Given the description of an element on the screen output the (x, y) to click on. 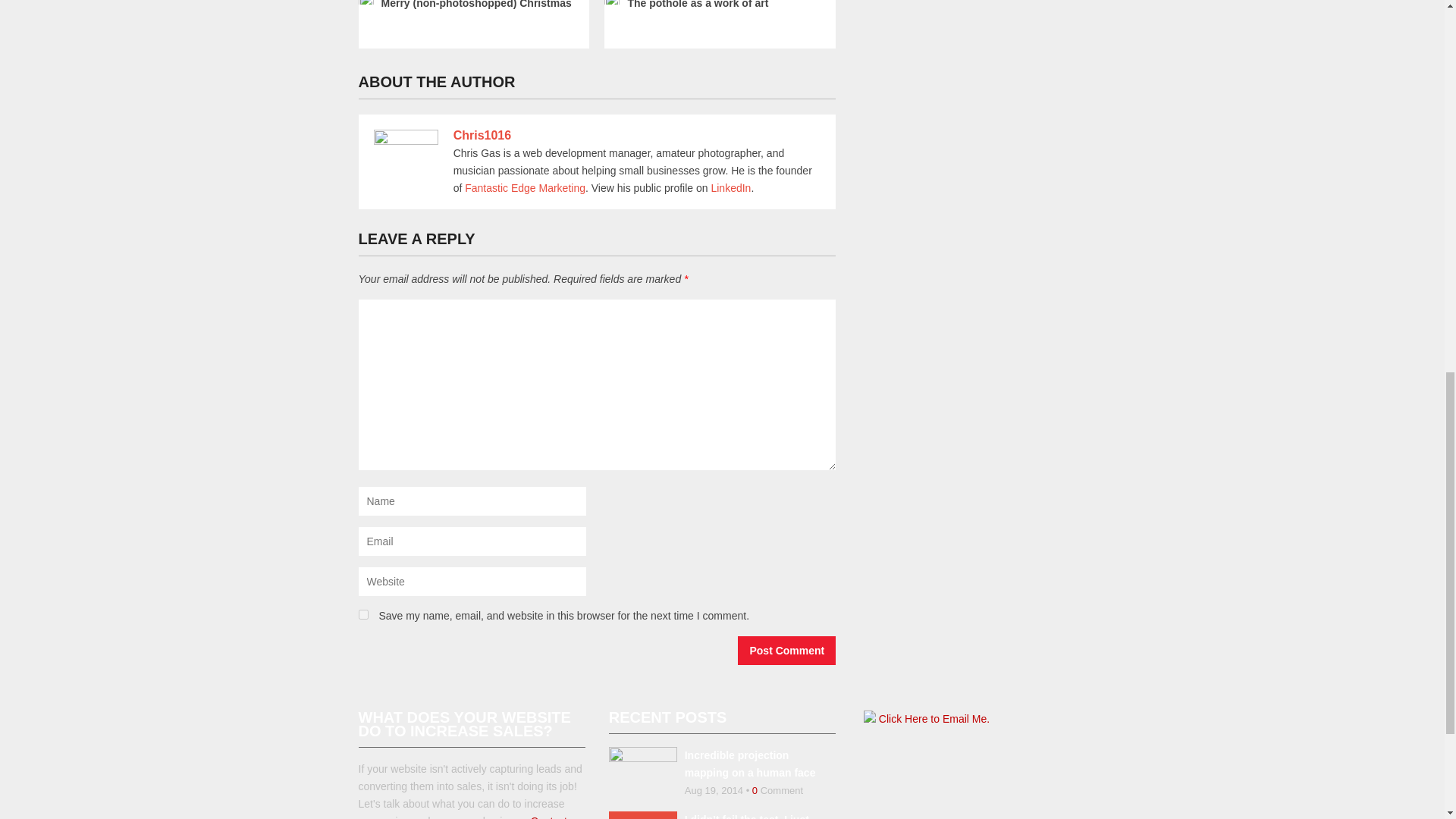
The pothole as a work of art (717, 6)
The pothole as a work of art (717, 6)
Post Comment (786, 650)
Chris1016 (482, 134)
yes (363, 614)
Post Comment (786, 650)
LinkedIn (730, 187)
Fantastic Edge Marketing (524, 187)
